Given the description of an element on the screen output the (x, y) to click on. 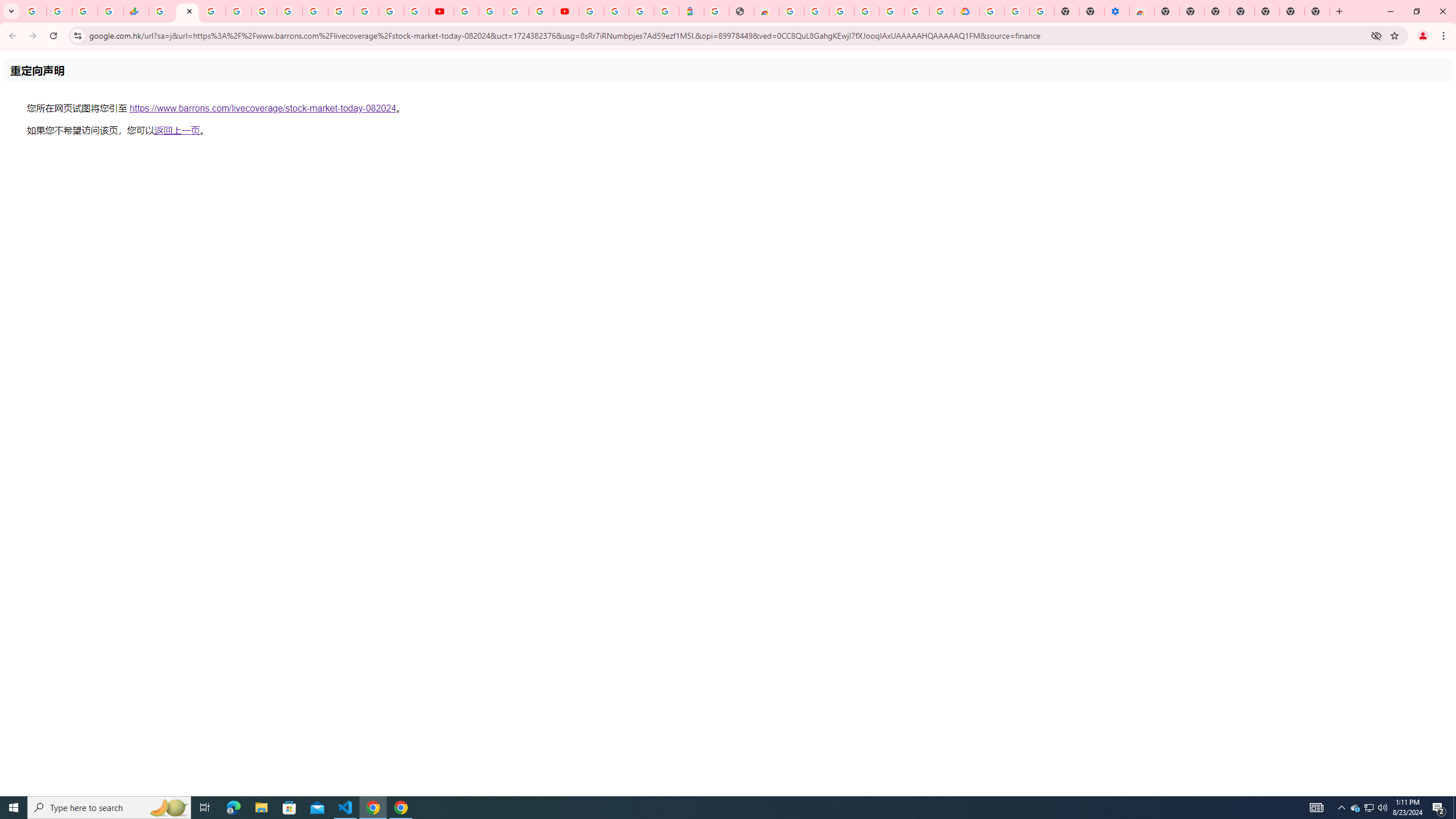
Ad Settings (816, 11)
Create your Google Account (516, 11)
